Given the description of an element on the screen output the (x, y) to click on. 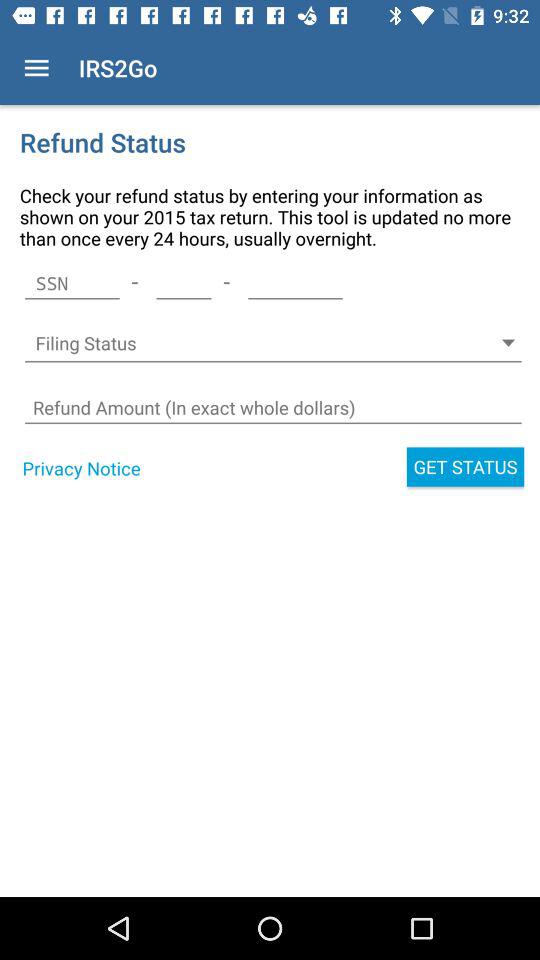
launch icon next to the get status item (81, 467)
